Given the description of an element on the screen output the (x, y) to click on. 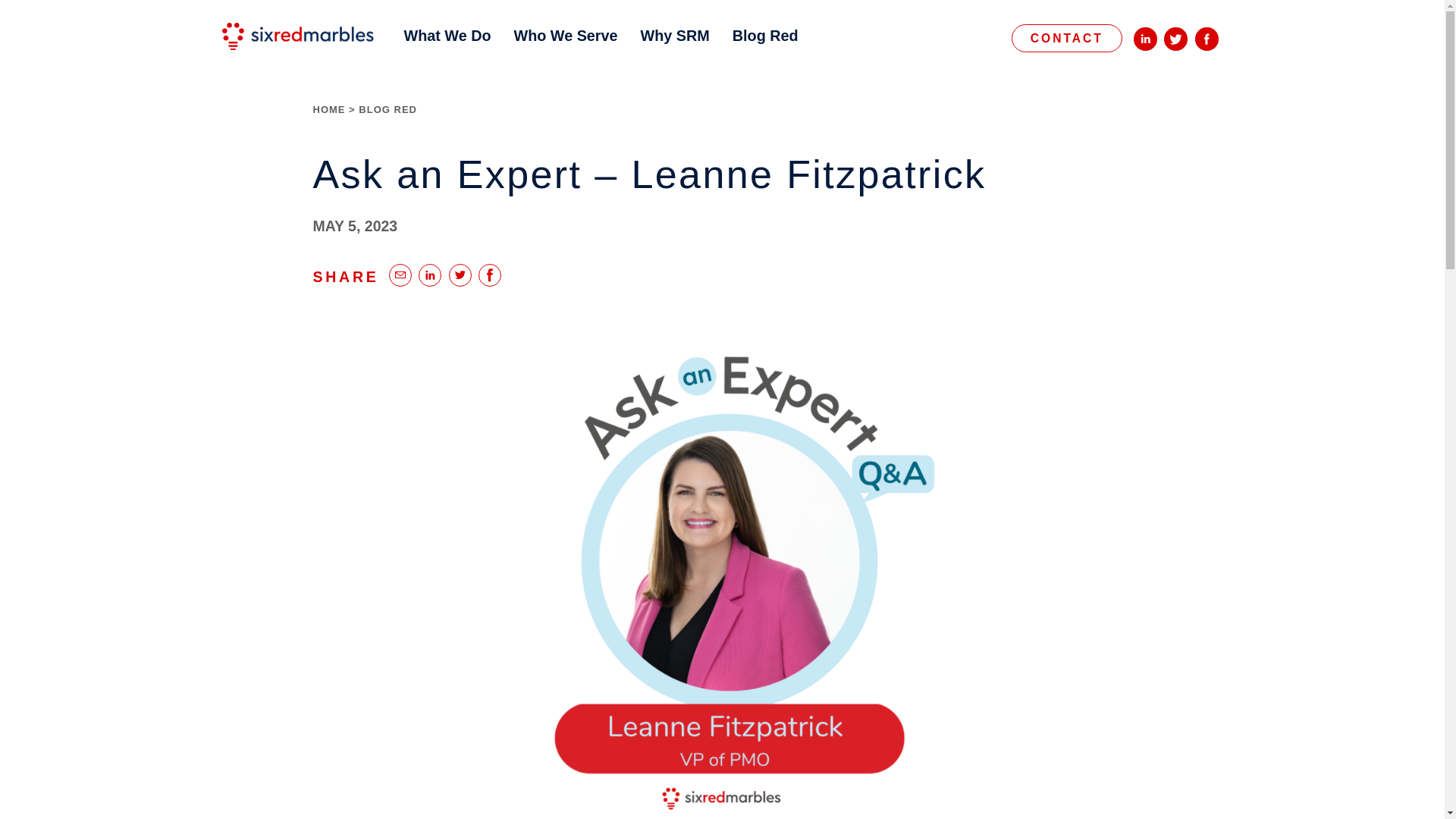
CONTACT (1066, 38)
LinkedIn (1145, 38)
Facebook (1206, 38)
Email (400, 274)
Why SRM (675, 45)
HOME (329, 109)
Six Red Marbles (296, 35)
Why SRM (675, 45)
Twitter (459, 274)
